Given the description of an element on the screen output the (x, y) to click on. 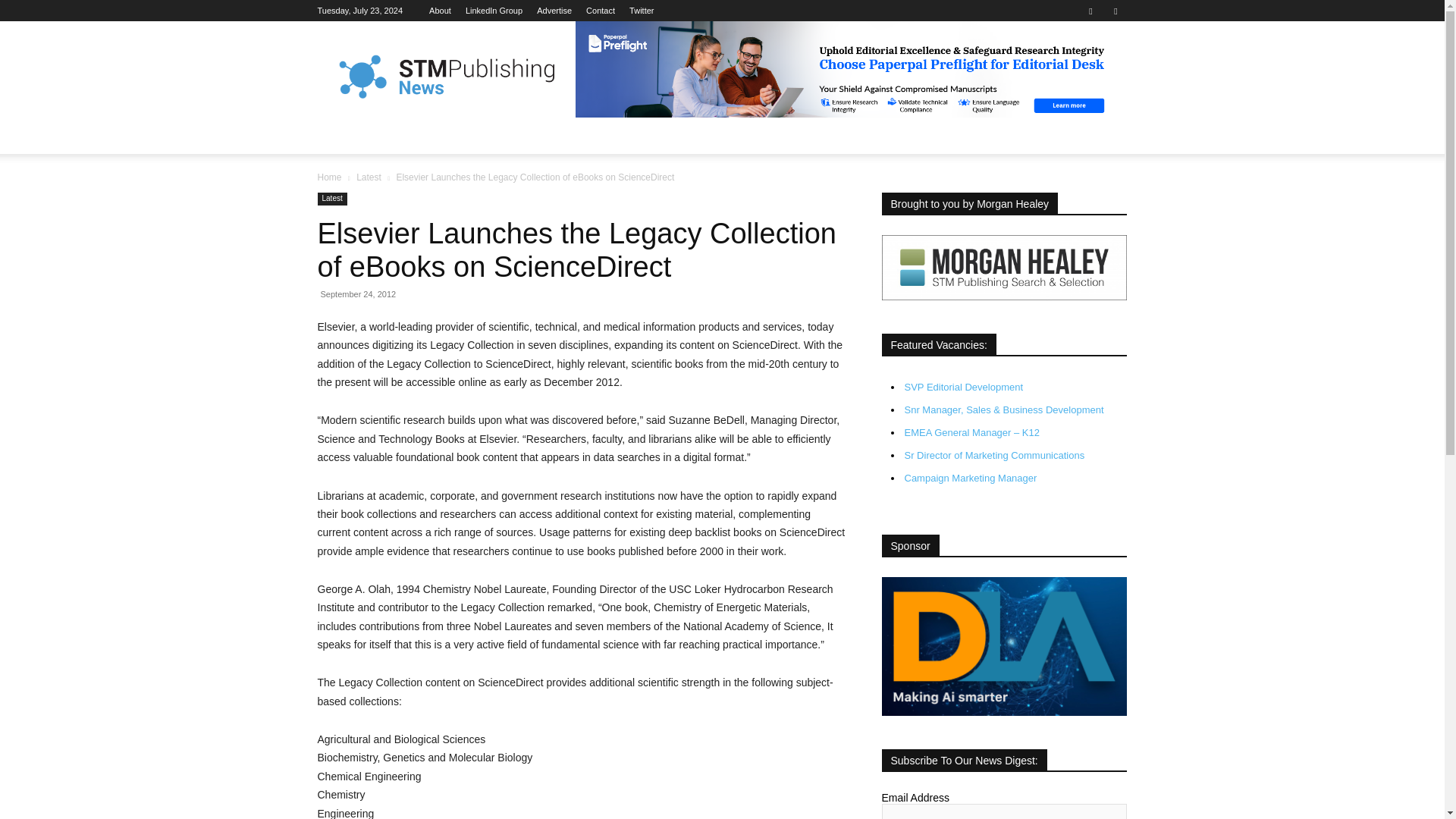
About (440, 10)
LinkedIn (493, 10)
LinkedIn Group (493, 10)
Linkedin (1090, 10)
Twitter (1114, 10)
HOME (342, 135)
FEATURED (411, 135)
Twitter (640, 10)
Contact (600, 10)
Advertise (554, 10)
